Given the description of an element on the screen output the (x, y) to click on. 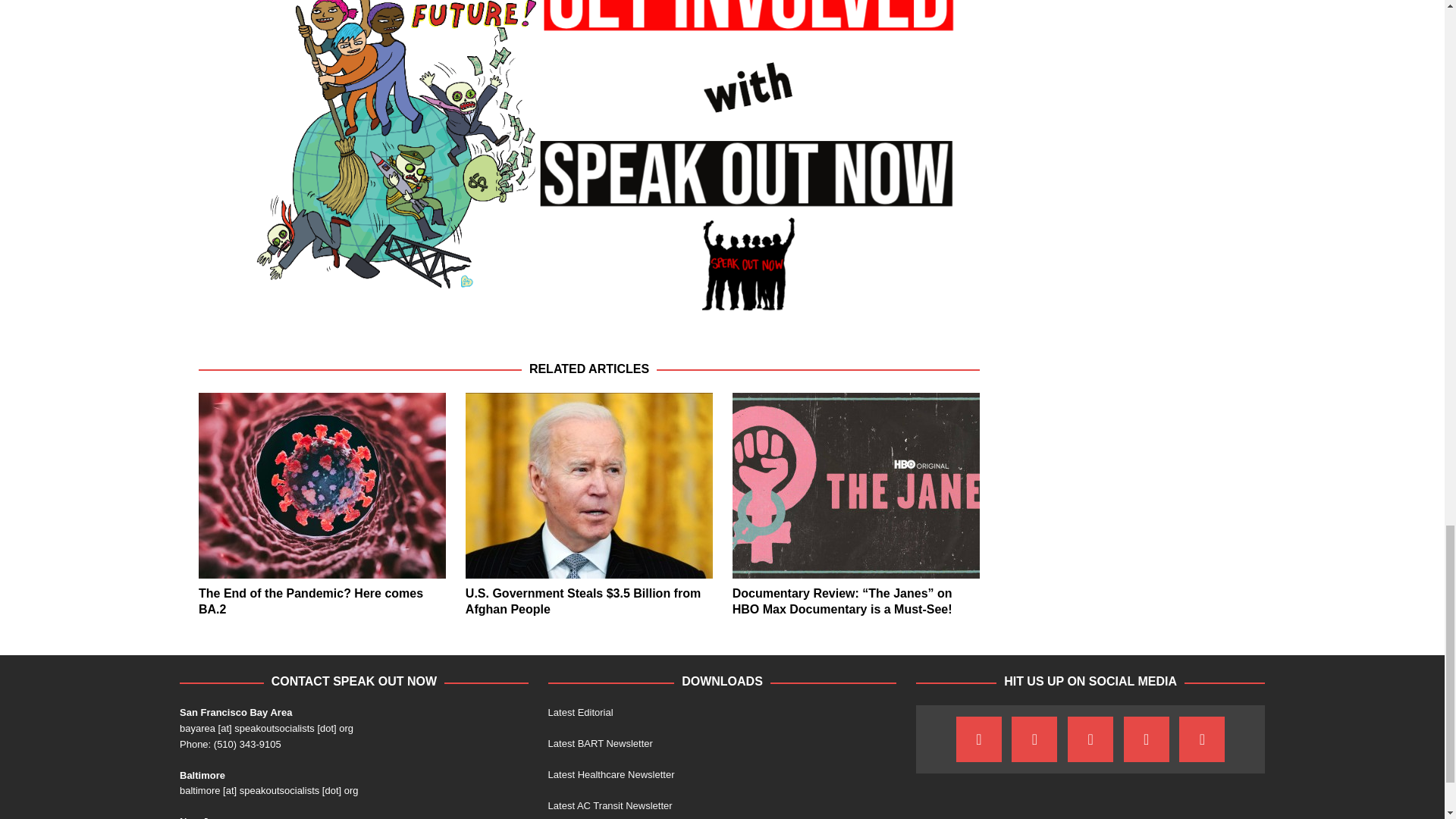
The End of the Pandemic? Here comes BA.2 (310, 601)
The End of the Pandemic? Here comes BA.2 (321, 485)
